Given the description of an element on the screen output the (x, y) to click on. 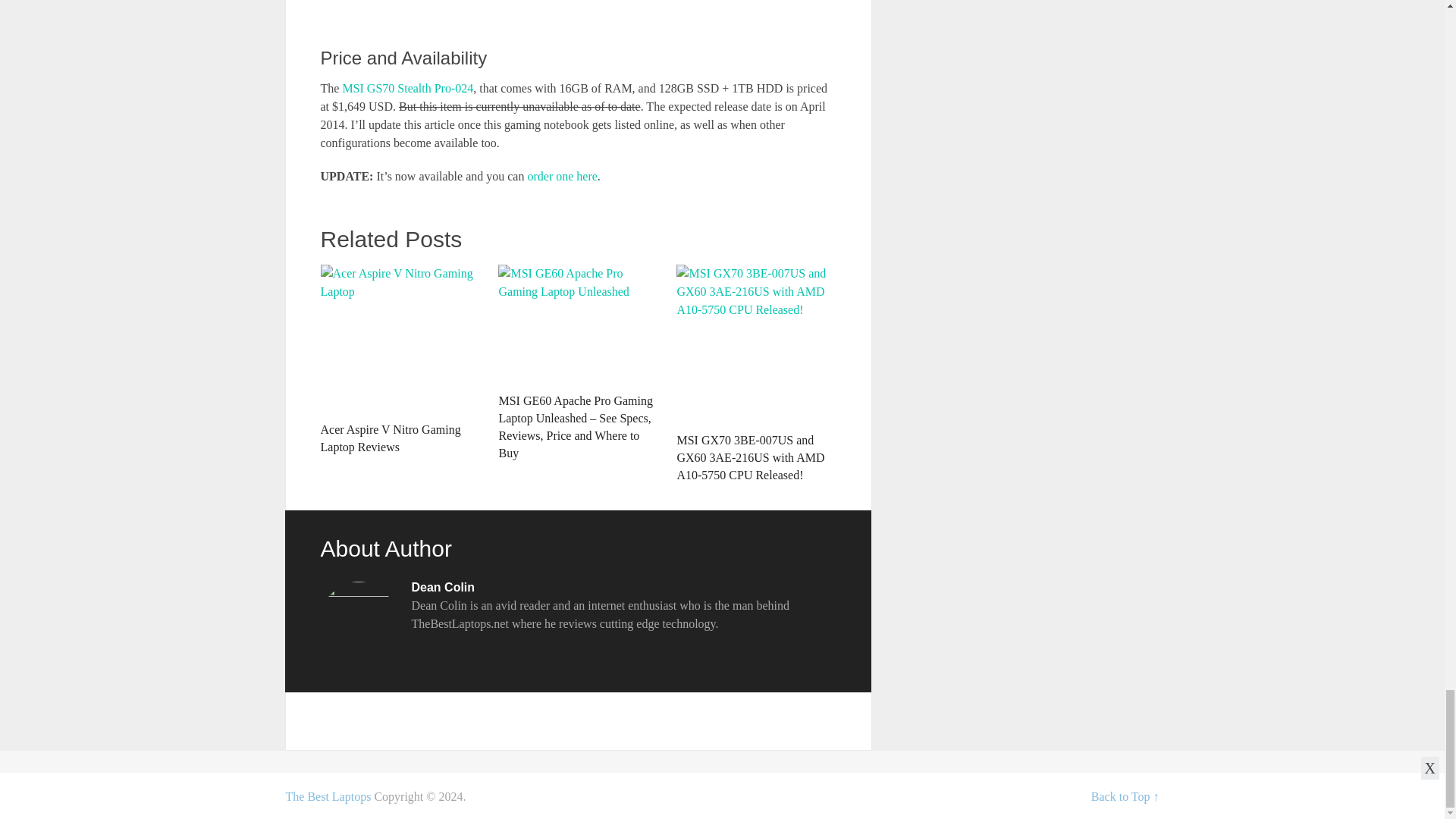
order one here (561, 175)
MSI GS70 Stealth Pro-024 (407, 88)
We Know What You Want (328, 796)
